Given the description of an element on the screen output the (x, y) to click on. 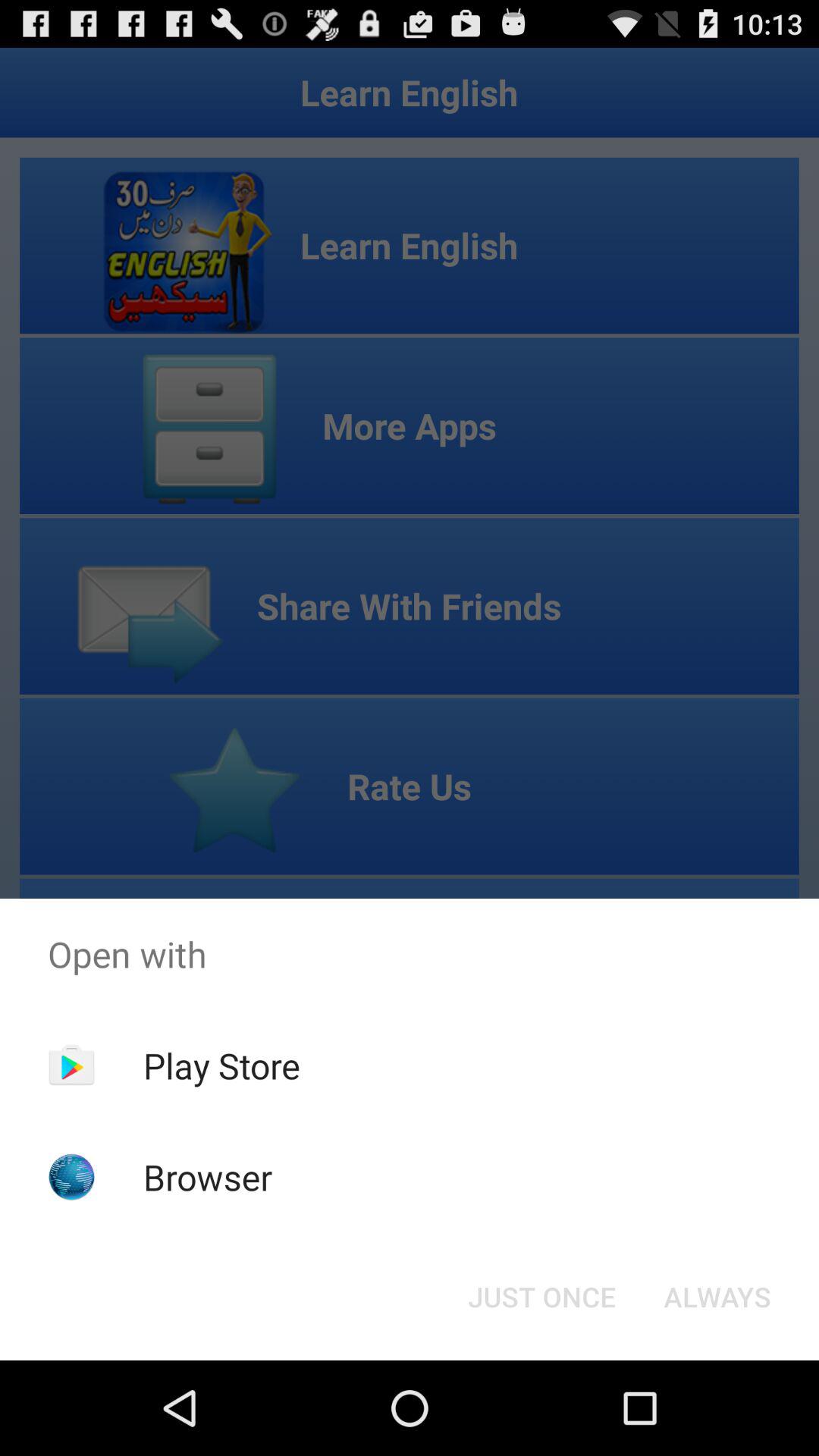
scroll to the browser item (207, 1176)
